Given the description of an element on the screen output the (x, y) to click on. 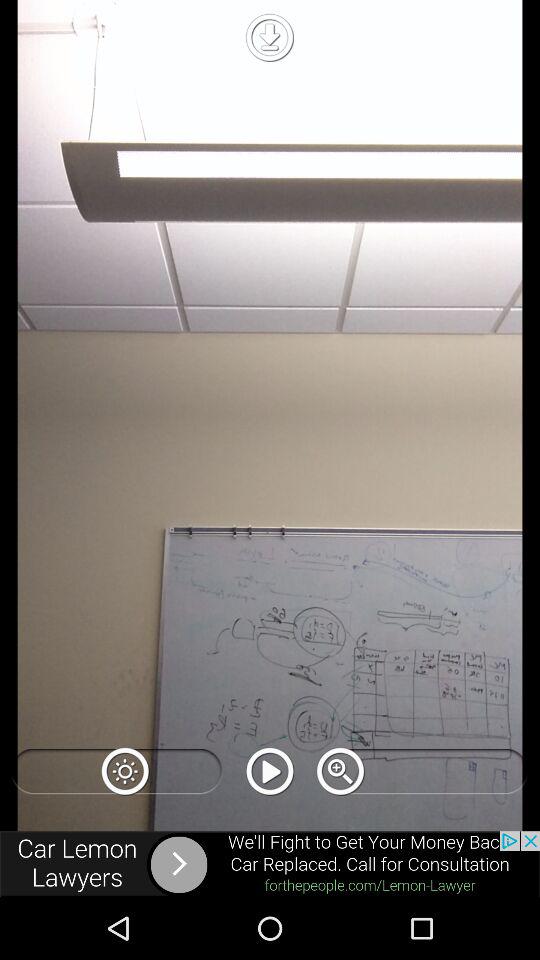
open advertisement (270, 864)
